Given the description of an element on the screen output the (x, y) to click on. 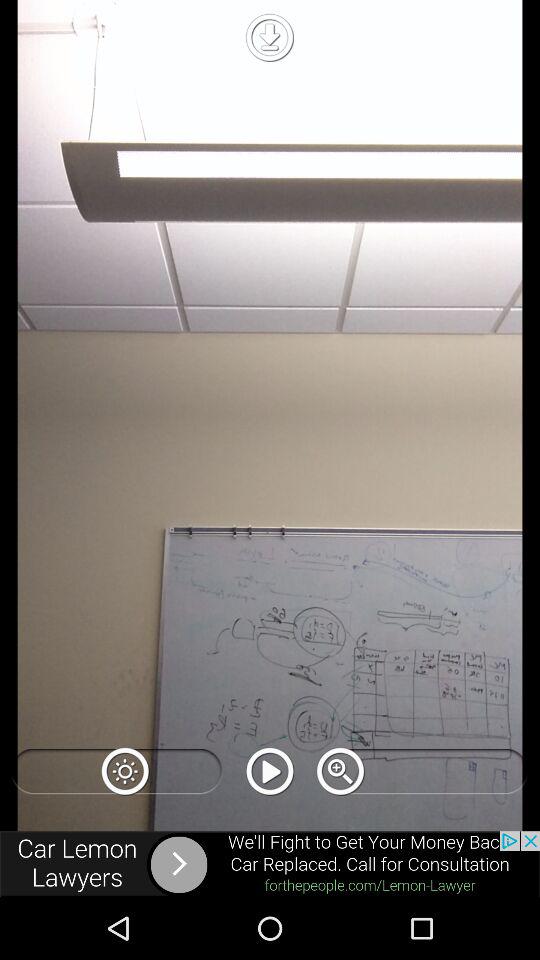
open advertisement (270, 864)
